Given the description of an element on the screen output the (x, y) to click on. 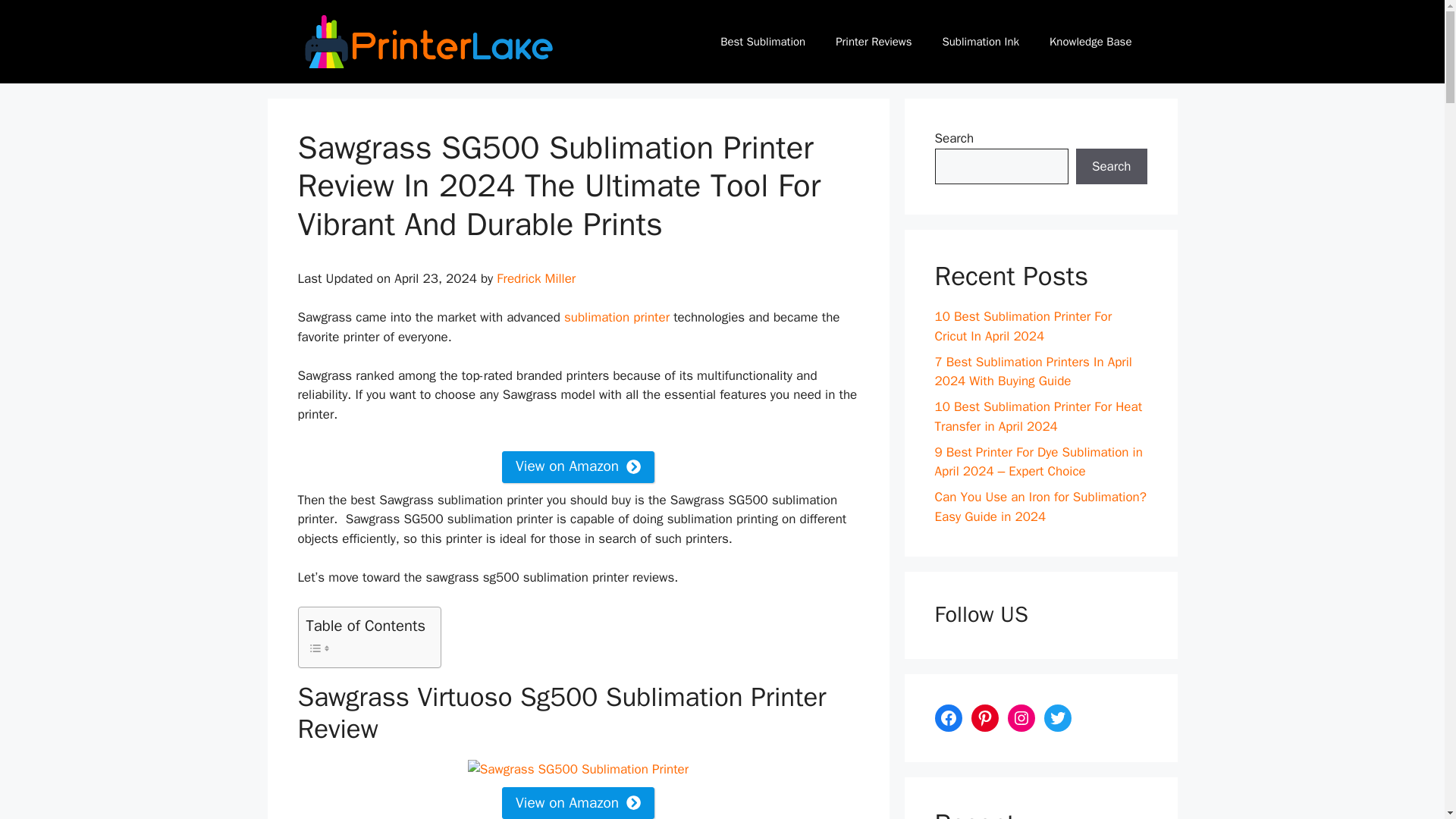
Best Sublimation (762, 41)
Fredrick Miller (535, 278)
Sublimation Ink (979, 41)
Printer Reviews (873, 41)
sublimation printer (616, 317)
View on Amazon (577, 467)
Knowledge Base (1090, 41)
